Given the description of an element on the screen output the (x, y) to click on. 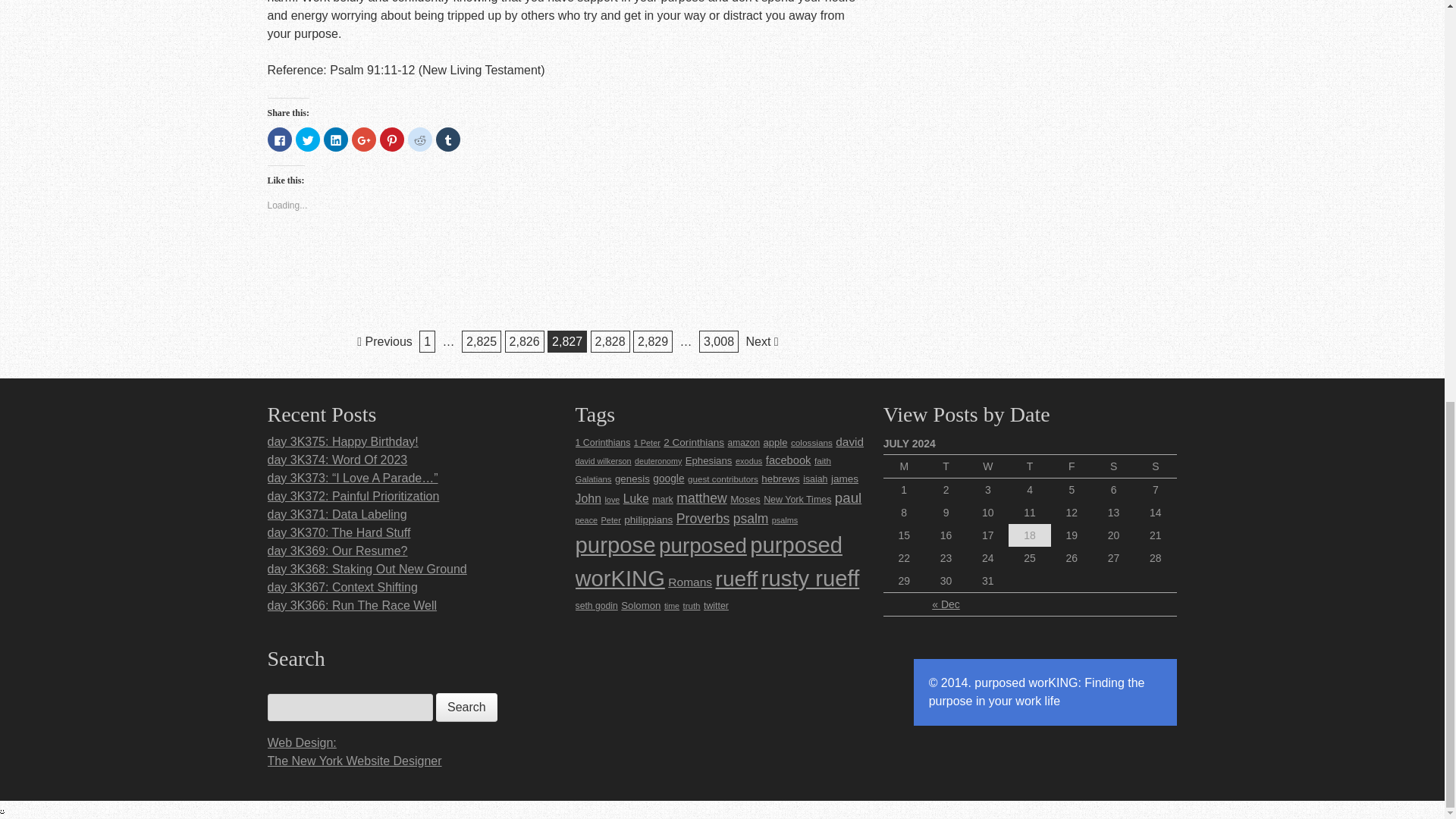
Click to share on Twitter (307, 139)
day 3K371: Data Labeling (336, 513)
day 3K369: Our Resume? (336, 550)
Click to share on Reddit (419, 139)
2,826 (524, 341)
day 3K370: The Hard Stuff (338, 532)
day 3K374: Word Of 2023 (336, 459)
2,825 (480, 341)
3,008 (718, 341)
Click to share on Facebook (278, 139)
Search (466, 706)
Previous (384, 341)
2,829 (652, 341)
day 3K375: Happy Birthday! (341, 440)
Click to share on LinkedIn (335, 139)
